Given the description of an element on the screen output the (x, y) to click on. 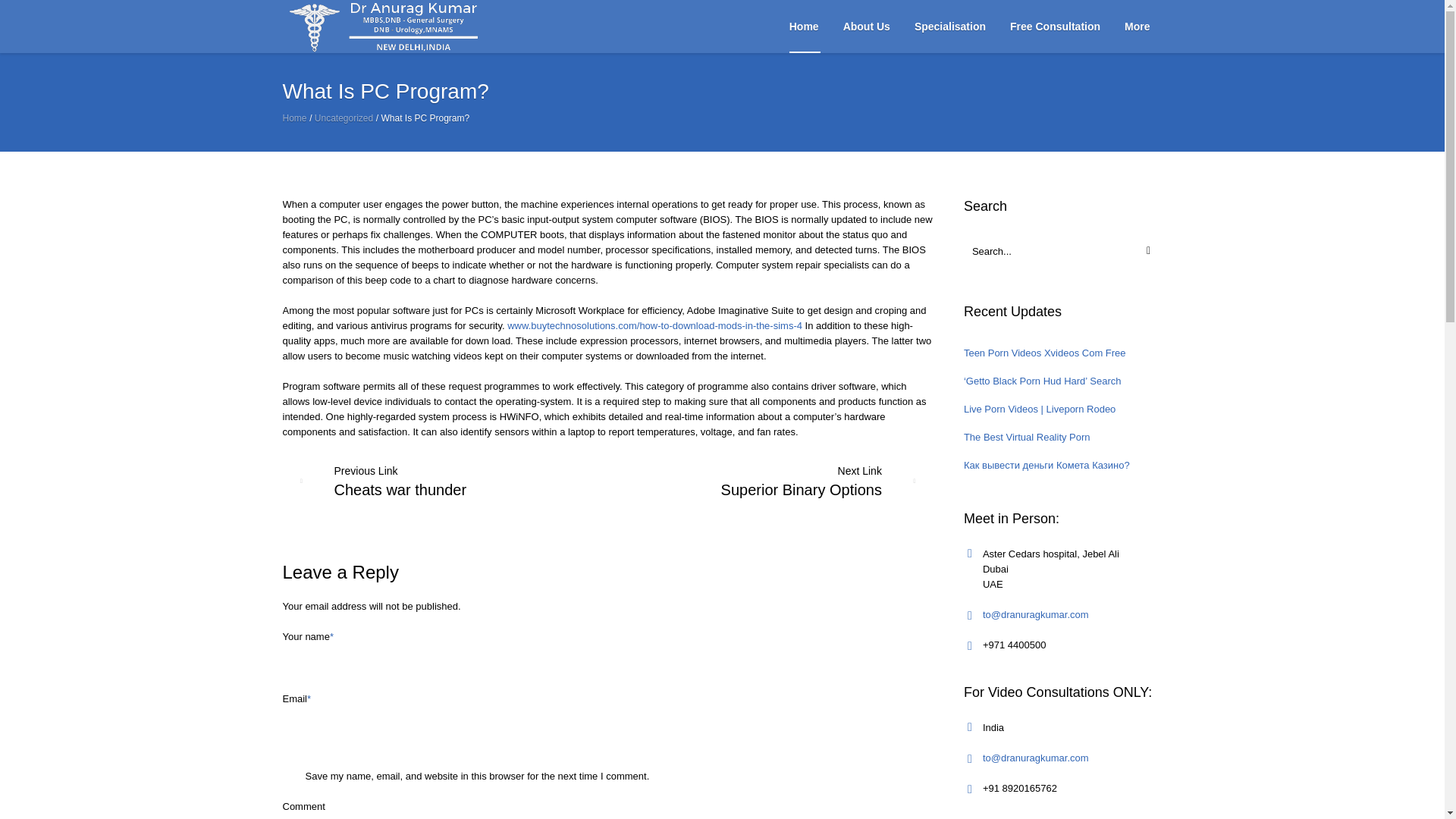
Teen Porn Videos Xvideos Com Free (1044, 352)
About Us (866, 26)
Home (293, 118)
Superior Binary Options (826, 481)
Uncategorized (343, 118)
The Best Virtual Reality Porn (1026, 437)
Free Consultation (1054, 26)
Cheats war thunder (373, 481)
Home (804, 26)
More (1136, 26)
